Given the description of an element on the screen output the (x, y) to click on. 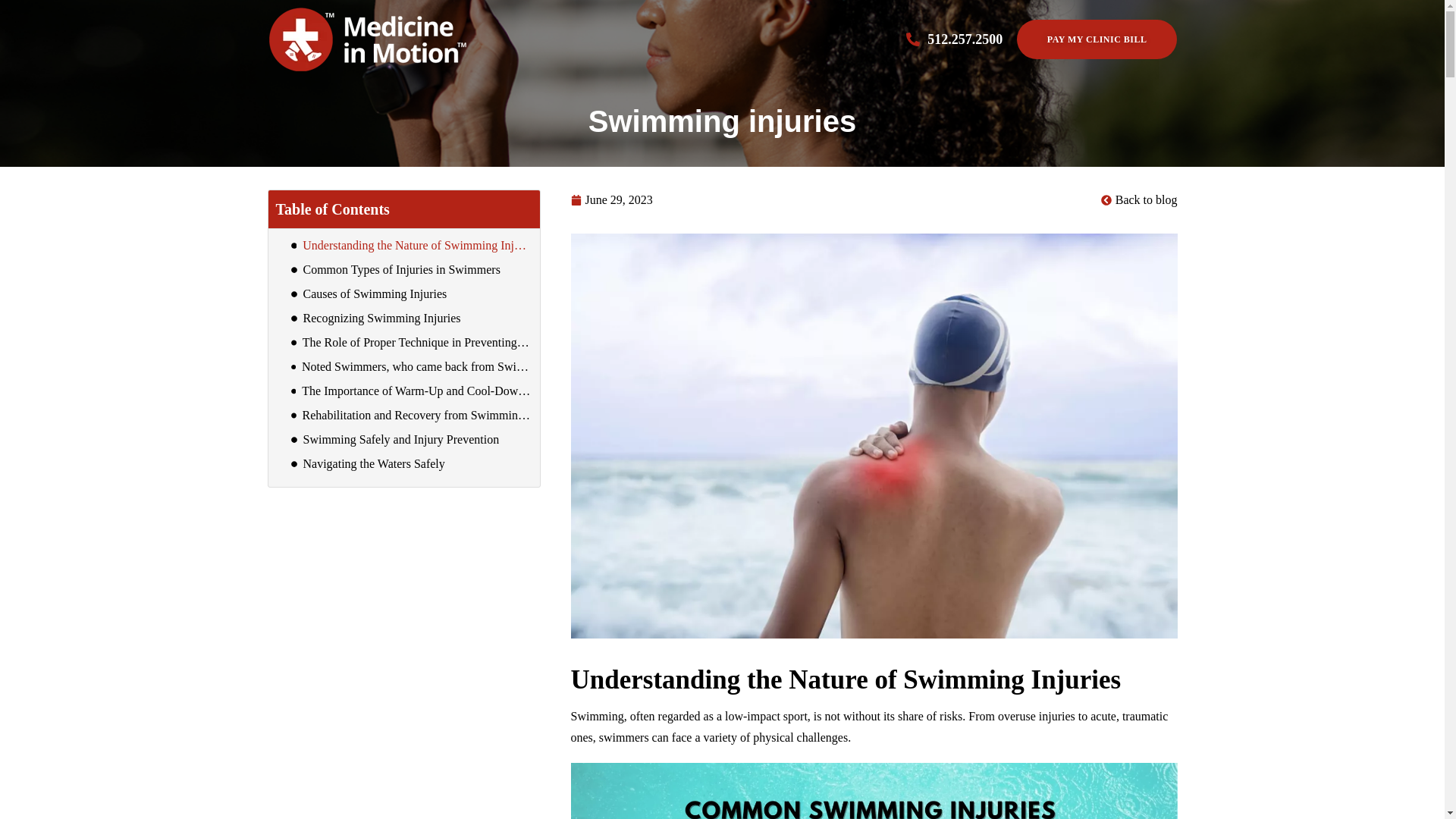
Back to blog (1138, 199)
Swimming Safely and Injury Prevention (400, 439)
The Importance of Warm-Up and Cool-Down Exercises (416, 391)
Understanding the Nature of Swimming Injuries (416, 245)
PAY MY CLINIC BILL (1096, 38)
Rehabilitation and Recovery from Swimming Injuries (417, 415)
Recognizing Swimming Injuries (381, 318)
The Role of Proper Technique in Preventing Injuries (417, 342)
Common Types of Injuries in Swimmers (401, 270)
Causes of Swimming Injuries (374, 294)
Swimming injuries 1 (873, 790)
Navigating the Waters Safely (373, 464)
Noted Swimmers, who came back from Swimming Injuries (416, 366)
512.257.2500 (965, 38)
